Given the description of an element on the screen output the (x, y) to click on. 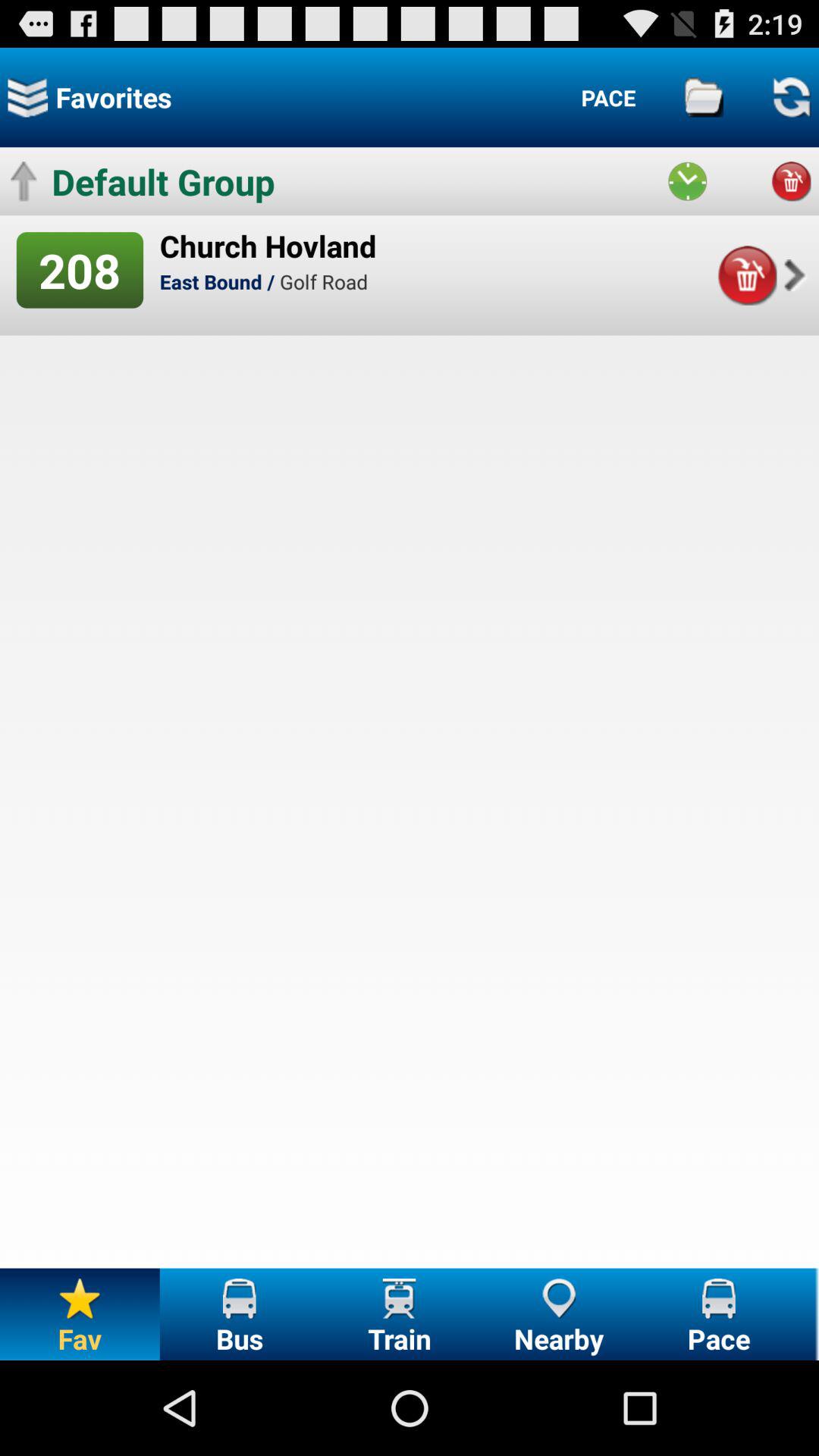
select delete (791, 181)
